Given the description of an element on the screen output the (x, y) to click on. 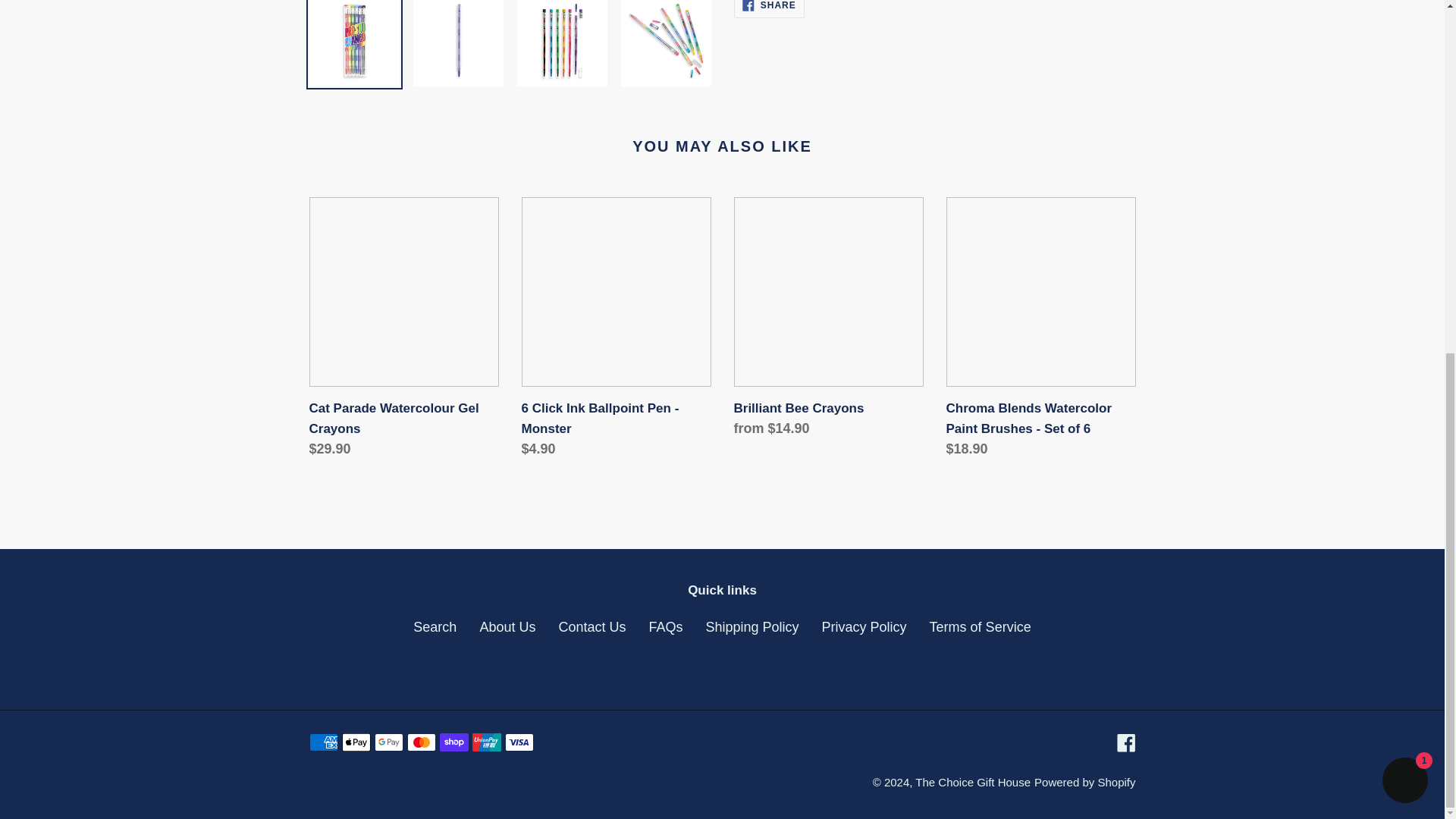
Shopify online store chat (1404, 165)
